Given the description of an element on the screen output the (x, y) to click on. 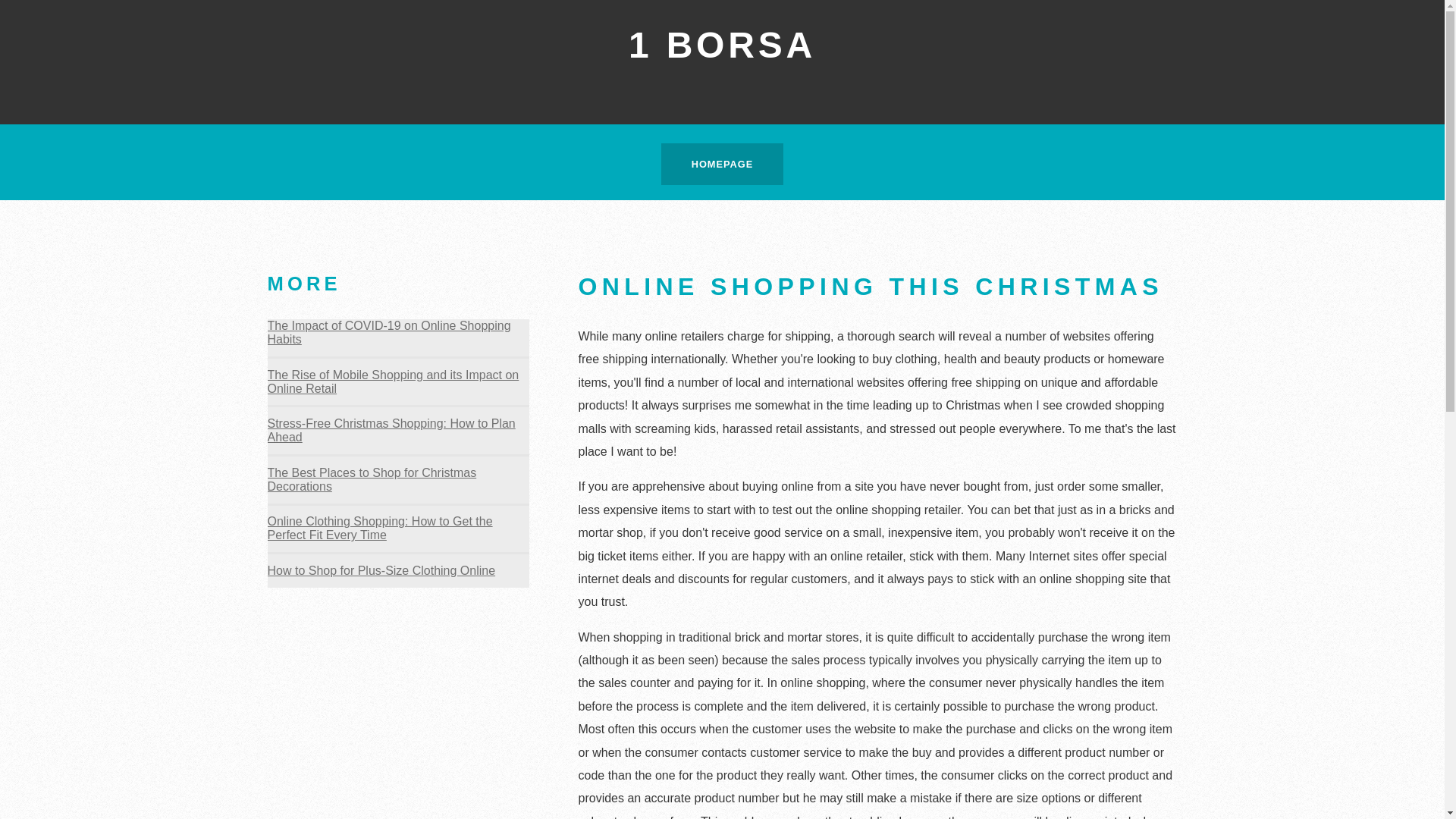
The Rise of Mobile Shopping and its Impact on Online Retail Element type: text (392, 381)
1 BORSA Element type: text (721, 45)
How to Shop for Plus-Size Clothing Online Element type: text (380, 570)
HOMEPAGE Element type: text (722, 164)
The Impact of COVID-19 on Online Shopping Habits Element type: text (388, 332)
The Best Places to Shop for Christmas Decorations Element type: text (371, 479)
Stress-Free Christmas Shopping: How to Plan Ahead Element type: text (390, 430)
